Given the description of an element on the screen output the (x, y) to click on. 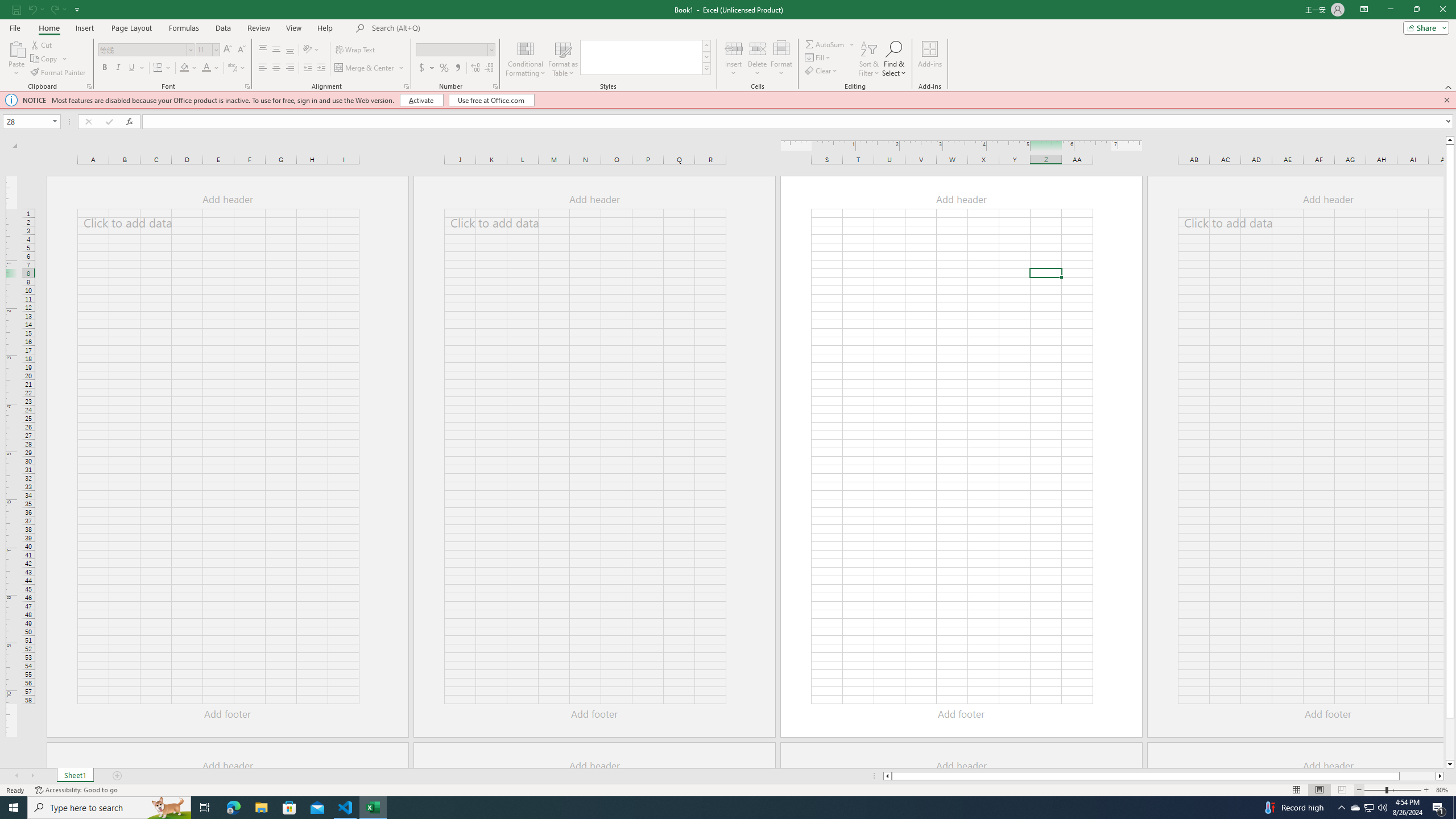
Italic (118, 67)
Format Cell Alignment (405, 85)
Font Color (210, 67)
